Given the description of an element on the screen output the (x, y) to click on. 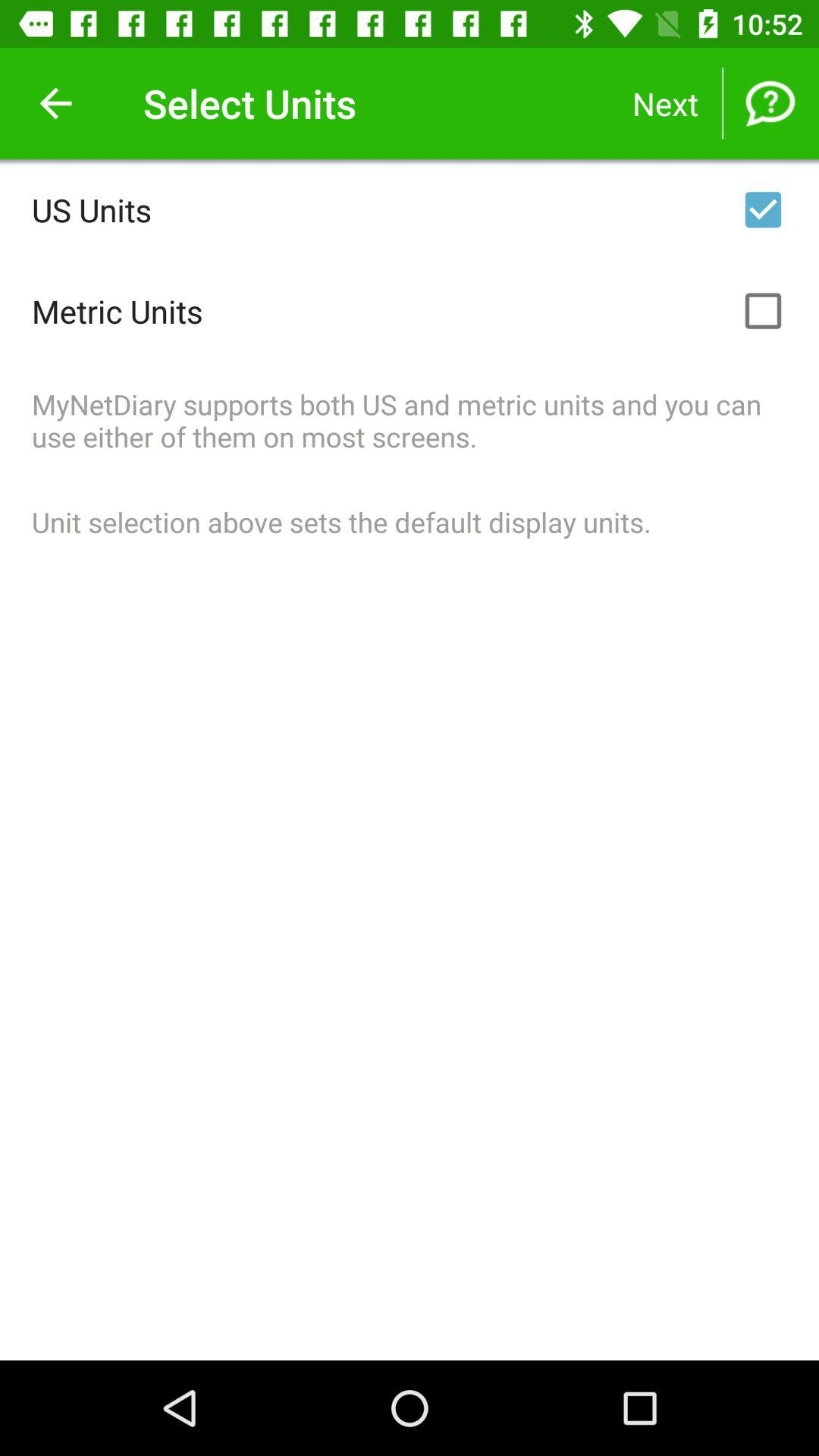
open icon to the left of the select units icon (55, 103)
